Given the description of an element on the screen output the (x, y) to click on. 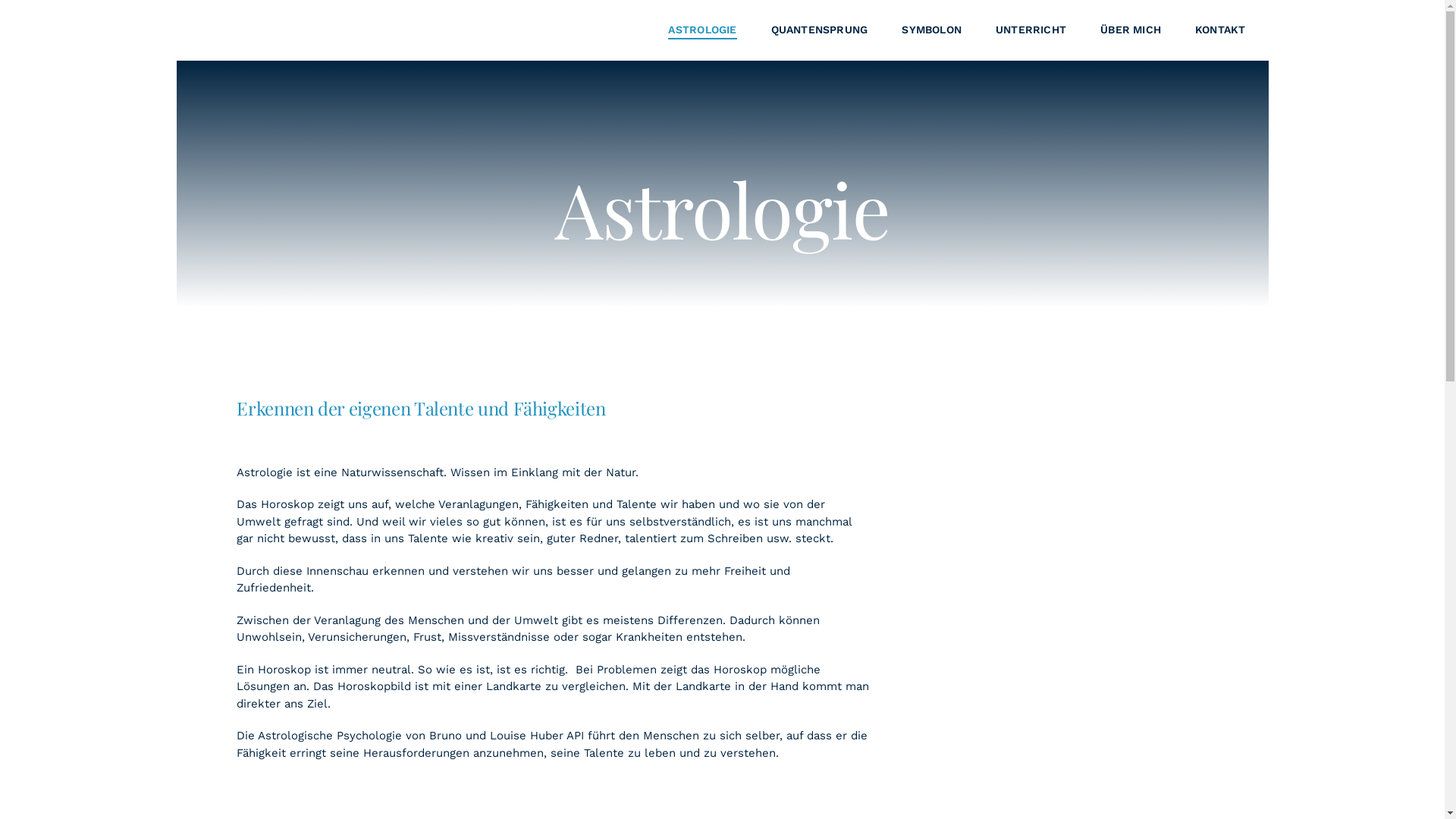
UNTERRICHT Element type: text (1030, 29)
ASTROLOGIE Element type: text (702, 29)
KONTAKT Element type: text (1220, 29)
QUANTENSPRUNG Element type: text (819, 29)
SYMBOLON Element type: text (931, 29)
